Given the description of an element on the screen output the (x, y) to click on. 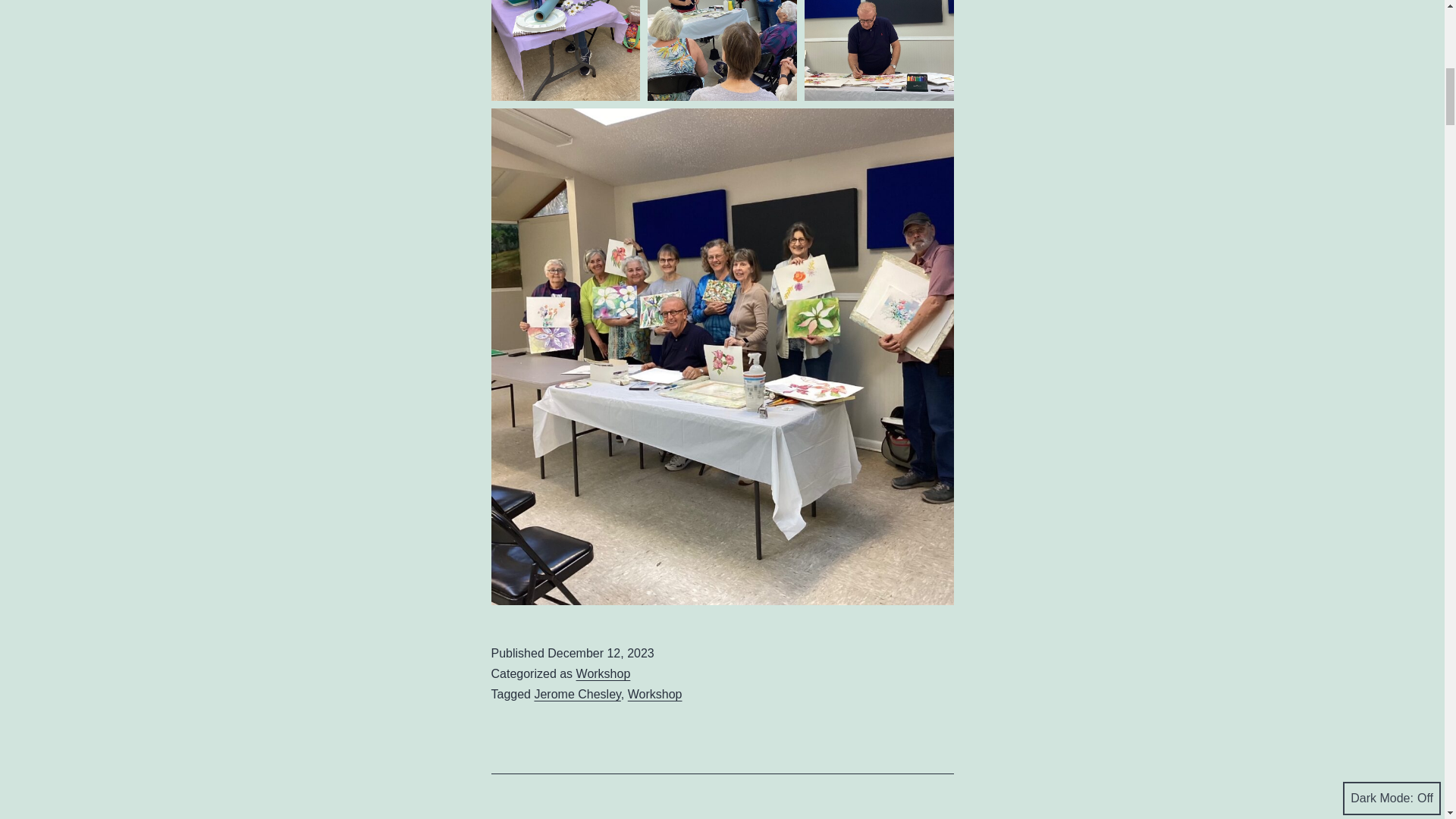
Workshop (603, 673)
Jerome Chesley (577, 694)
Workshop (654, 694)
